Given the description of an element on the screen output the (x, y) to click on. 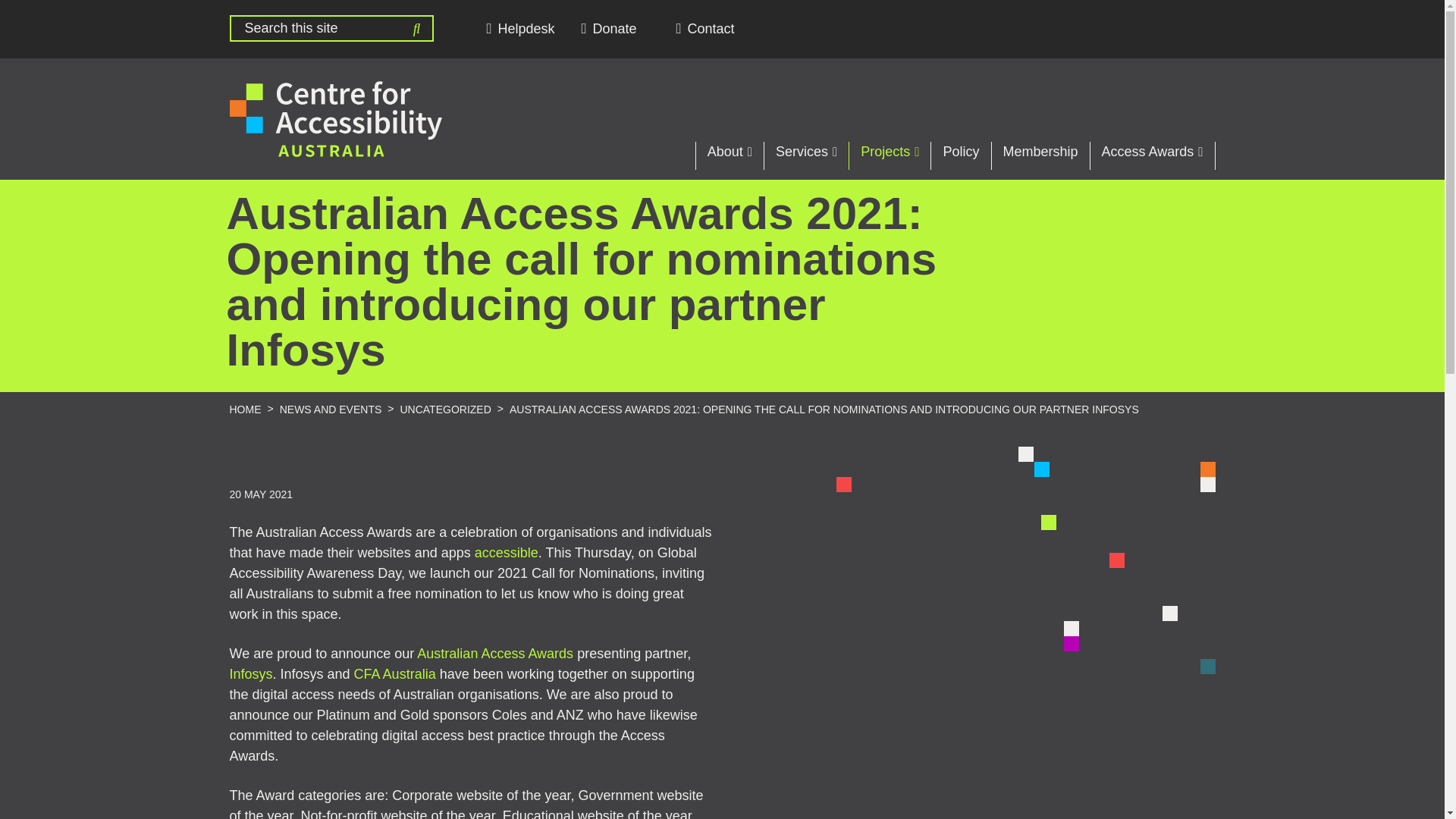
Go to Centre For Accessibility Australia. (244, 409)
Contact (710, 29)
Projects (889, 155)
Policy (960, 155)
Services (805, 155)
Infosys (250, 674)
UNCATEGORIZED (444, 409)
CFA Australia (394, 674)
accessible (506, 553)
Helpdesk (520, 29)
